Given the description of an element on the screen output the (x, y) to click on. 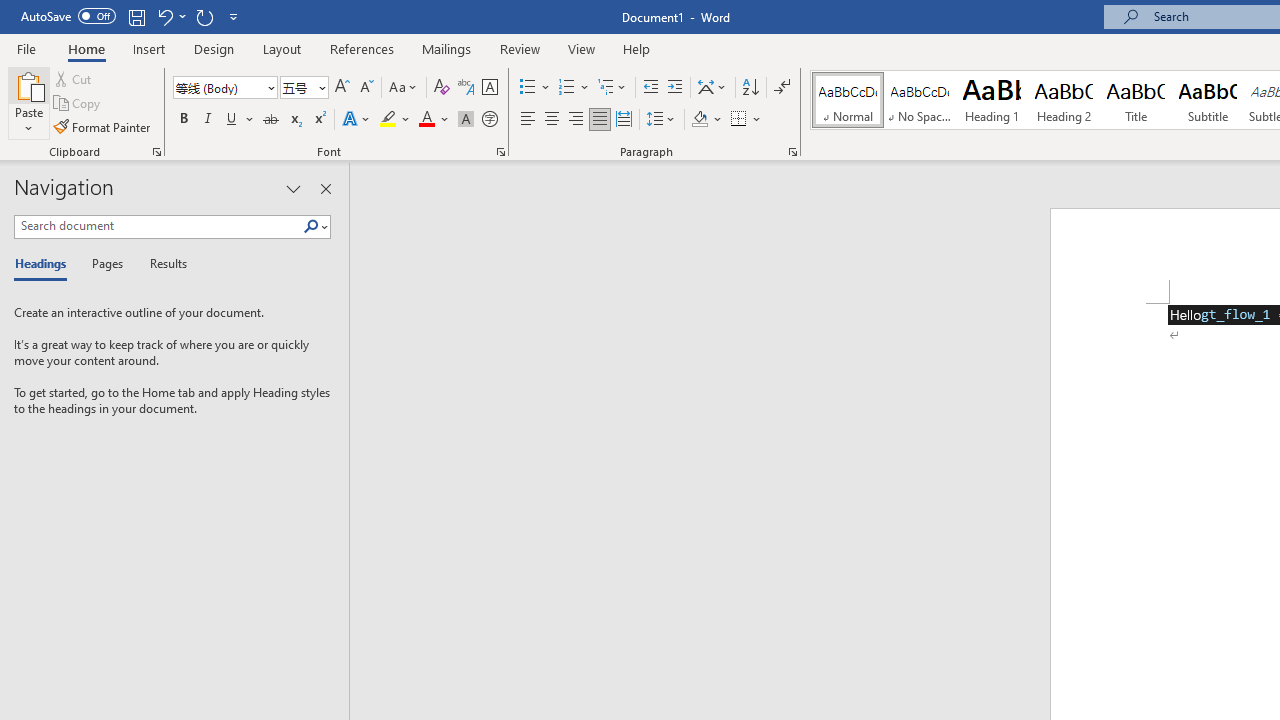
Heading 2 (1063, 100)
